Given the description of an element on the screen output the (x, y) to click on. 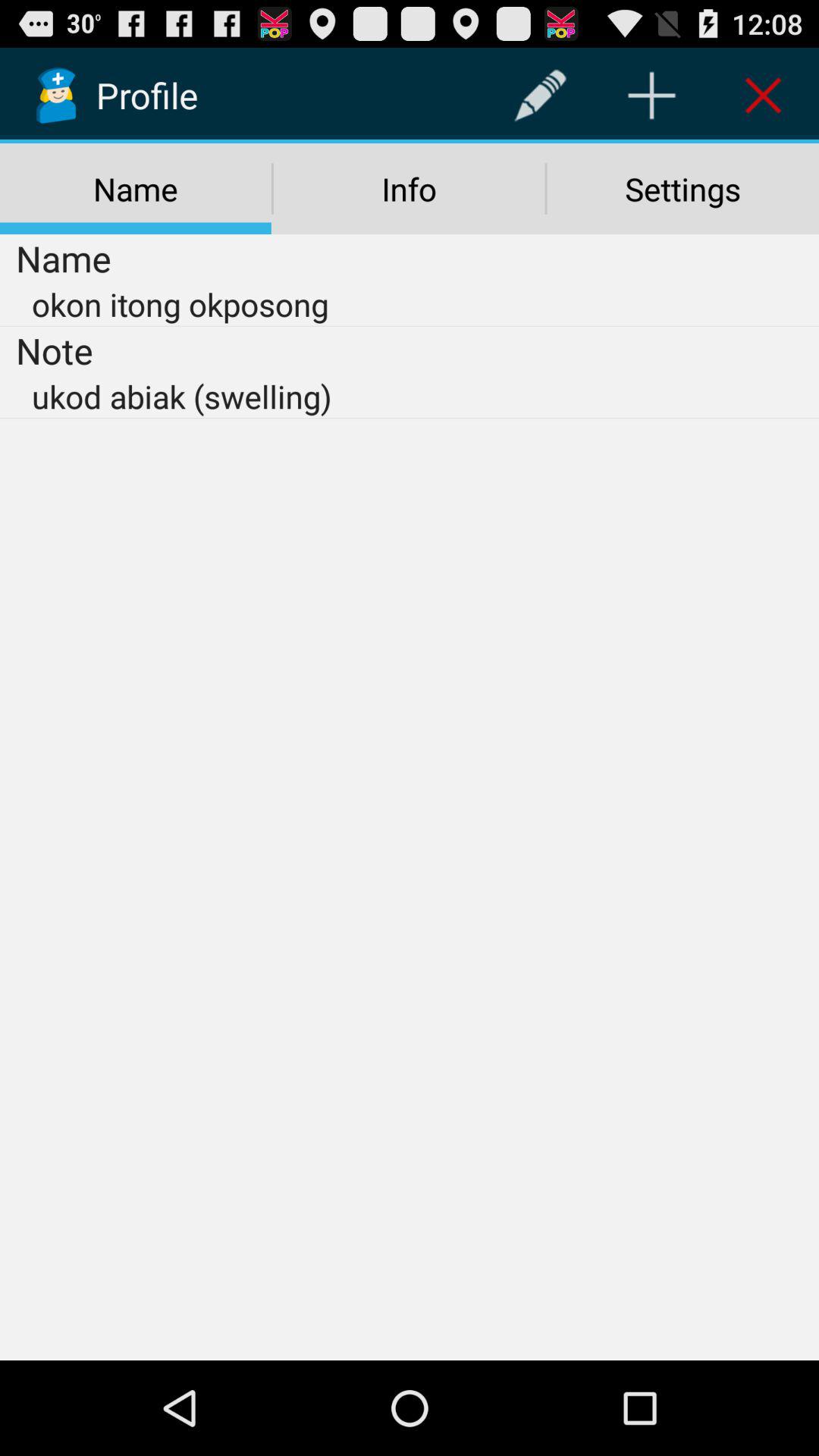
turn off item above the settings item (651, 95)
